Given the description of an element on the screen output the (x, y) to click on. 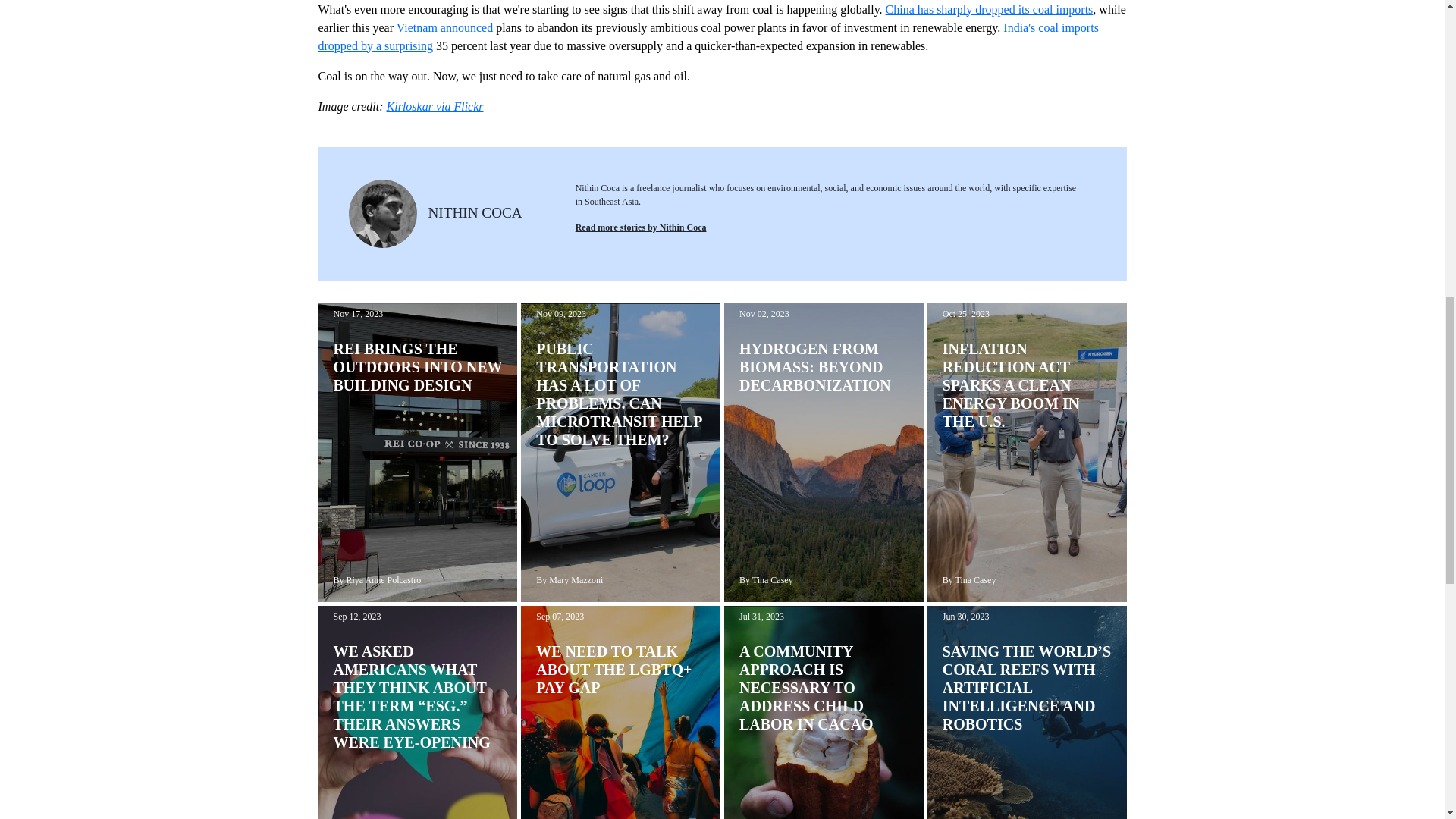
NITHIN COCA (474, 212)
Read more stories by Nithin Coca (640, 226)
Vietnam announced (444, 27)
India's coal imports dropped by a surprising (708, 36)
Nithin Coca author page (640, 226)
Nithin Coca author page (474, 212)
Kirloskar via Flickr (435, 106)
China has sharply dropped its coal imports (989, 9)
